Given the description of an element on the screen output the (x, y) to click on. 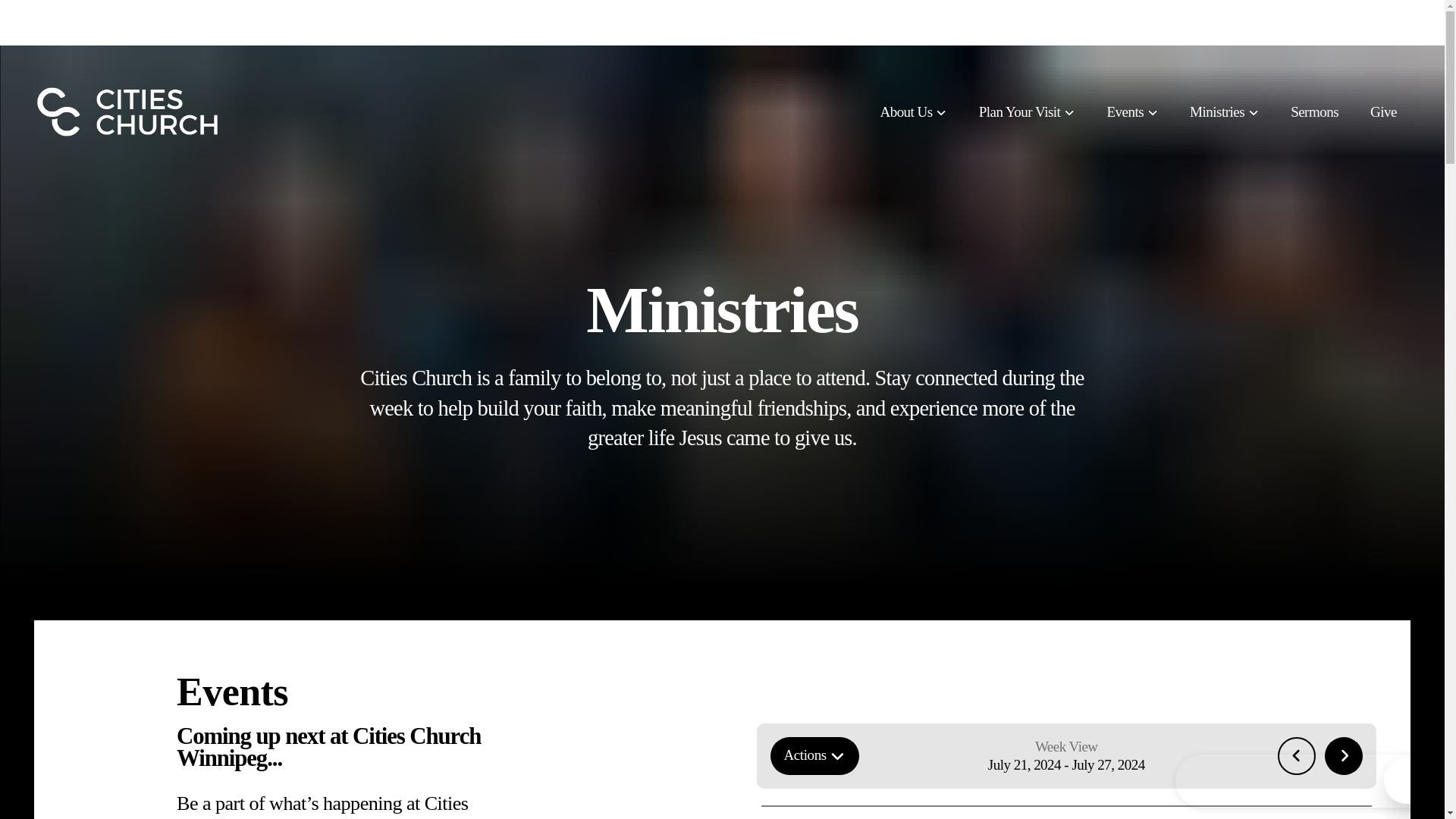
Give (1383, 111)
Sermons (1314, 111)
Give (1383, 111)
Events (1132, 111)
Events (1132, 111)
Actions (815, 755)
Ministries (1224, 111)
Plan Your Visit (1027, 111)
About Us (912, 111)
Plan Your Visit (1027, 111)
About Us (912, 111)
Ministries (1224, 111)
Sermons (1314, 111)
